Given the description of an element on the screen output the (x, y) to click on. 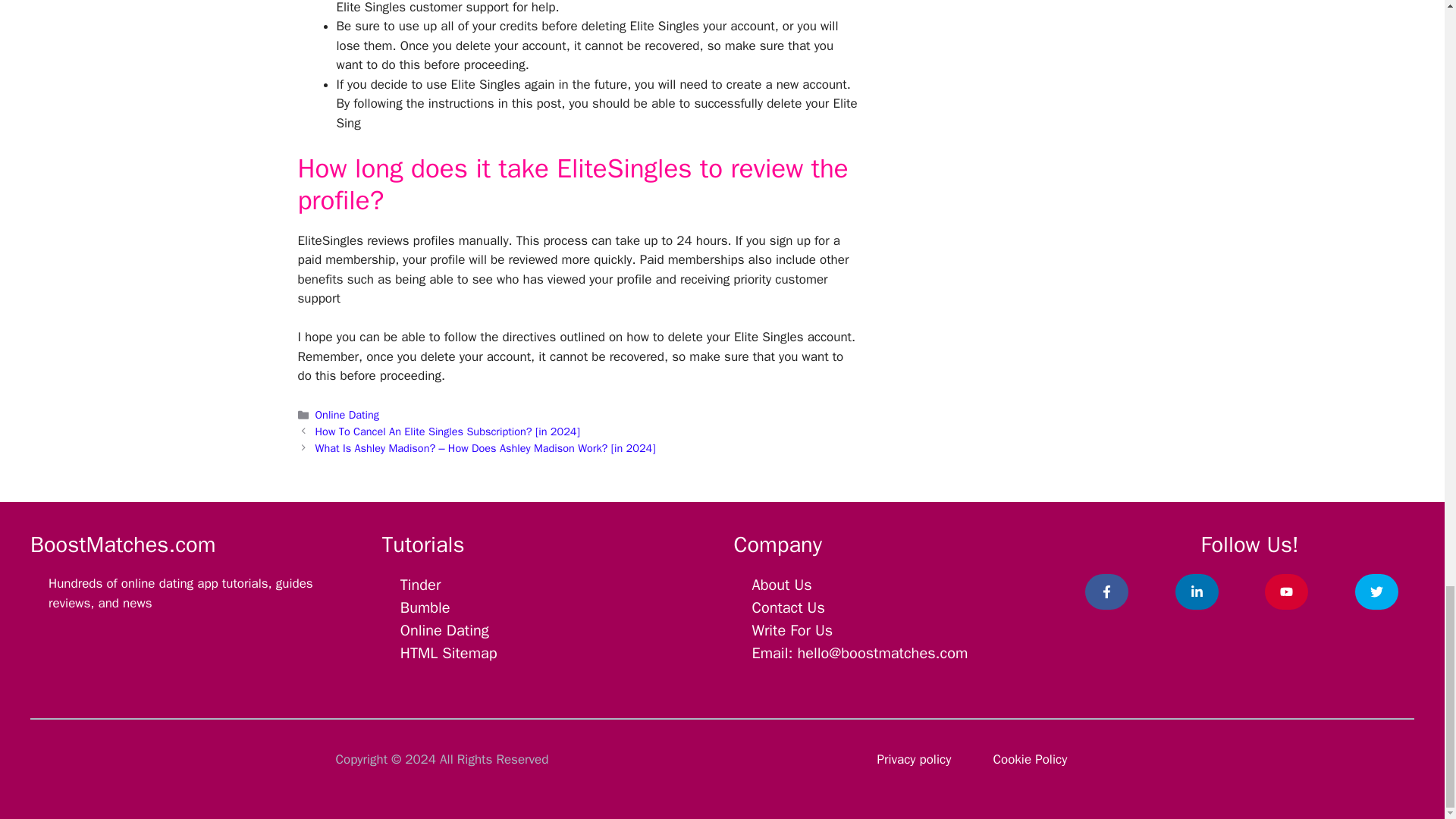
Privacy policy (913, 759)
Write For Us (792, 629)
Bumble (424, 607)
About Us (782, 584)
Online Dating (346, 414)
Tinder (420, 584)
Cookie Policy (1029, 759)
HTML Sitemap (448, 652)
BoostMatches.com (122, 544)
Contact Us (788, 607)
